Given the description of an element on the screen output the (x, y) to click on. 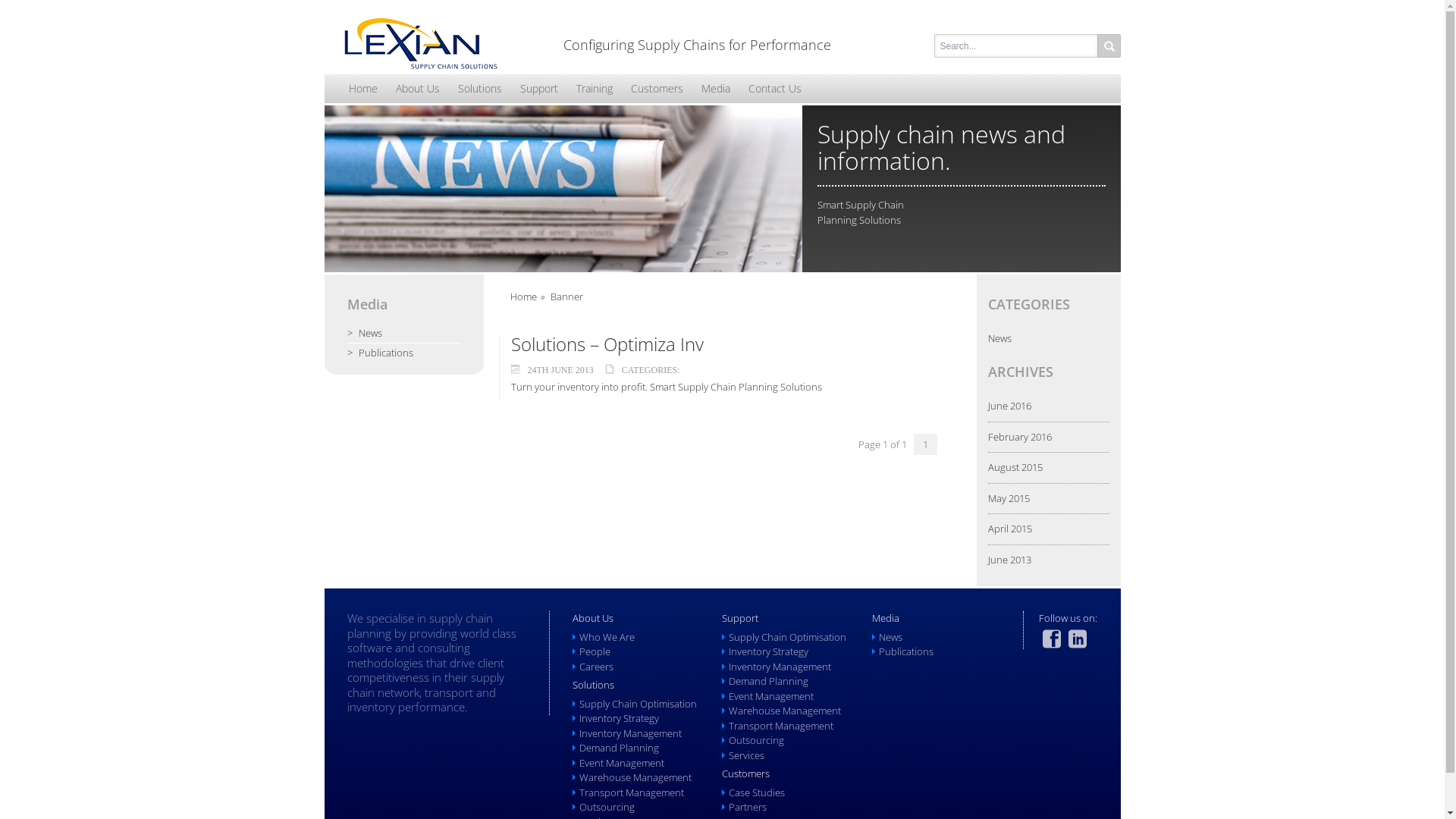
Transport Management Element type: text (631, 792)
Customers Element type: text (656, 88)
Partners Element type: text (747, 806)
Demand Planning Element type: text (618, 747)
Supply Chain Optimisation Element type: text (637, 703)
Publications Element type: text (905, 651)
Home Element type: text (522, 296)
Publications Element type: text (404, 353)
February 2016 Element type: text (1019, 436)
Warehouse Management Element type: text (635, 777)
Services Element type: text (746, 755)
Home Element type: text (362, 88)
News Element type: text (890, 636)
Outsourcing Element type: text (606, 806)
News Element type: text (404, 333)
Solutions Element type: text (479, 88)
Transport Management Element type: text (780, 725)
June 2013 Element type: text (1008, 559)
Warehouse Management Element type: text (784, 710)
April 2015 Element type: text (1009, 528)
Outsourcing Element type: text (756, 739)
Demand Planning Element type: text (768, 680)
Support Element type: text (539, 88)
Event Management Element type: text (770, 695)
Contact Us Element type: text (773, 88)
News Element type: text (998, 338)
Inventory Management Element type: text (779, 666)
Case Studies Element type: text (756, 792)
August 2015 Element type: text (1014, 466)
Media Element type: text (714, 88)
People Element type: text (594, 651)
Careers Element type: text (596, 666)
Inventory Strategy Element type: text (768, 651)
Inventory Management Element type: text (630, 733)
May 2015 Element type: text (1008, 498)
Training Element type: text (594, 88)
Supply Chain Optimisation Element type: text (787, 636)
Who We Are Element type: text (606, 636)
Event Management Element type: text (621, 762)
Inventory Strategy Element type: text (618, 717)
June 2016 Element type: text (1008, 405)
About Us Element type: text (417, 88)
